Given the description of an element on the screen output the (x, y) to click on. 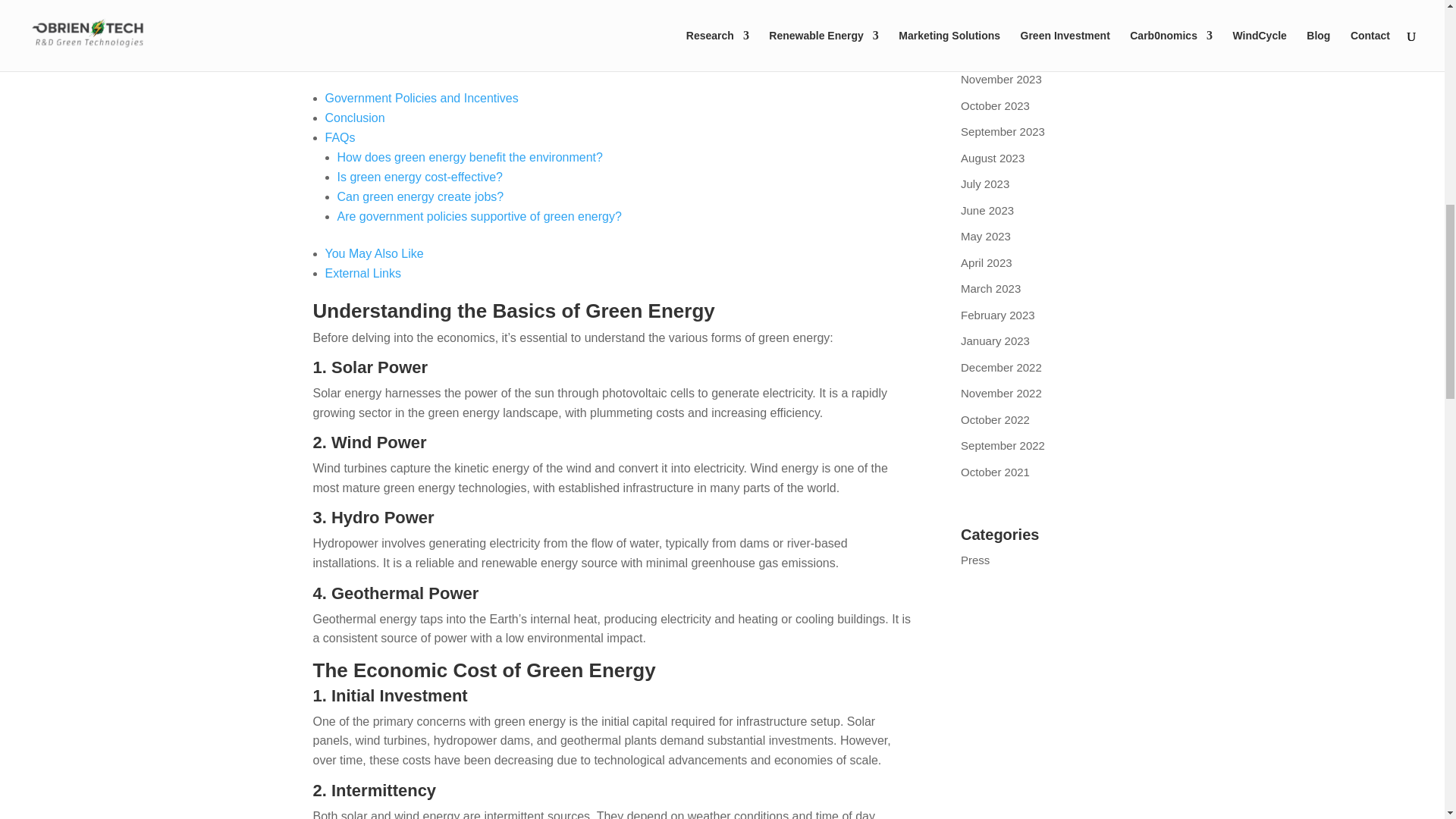
2. Energy Independence (402, 21)
3. Cost Savings (379, 41)
1. Environmental Benefits (405, 4)
